Given the description of an element on the screen output the (x, y) to click on. 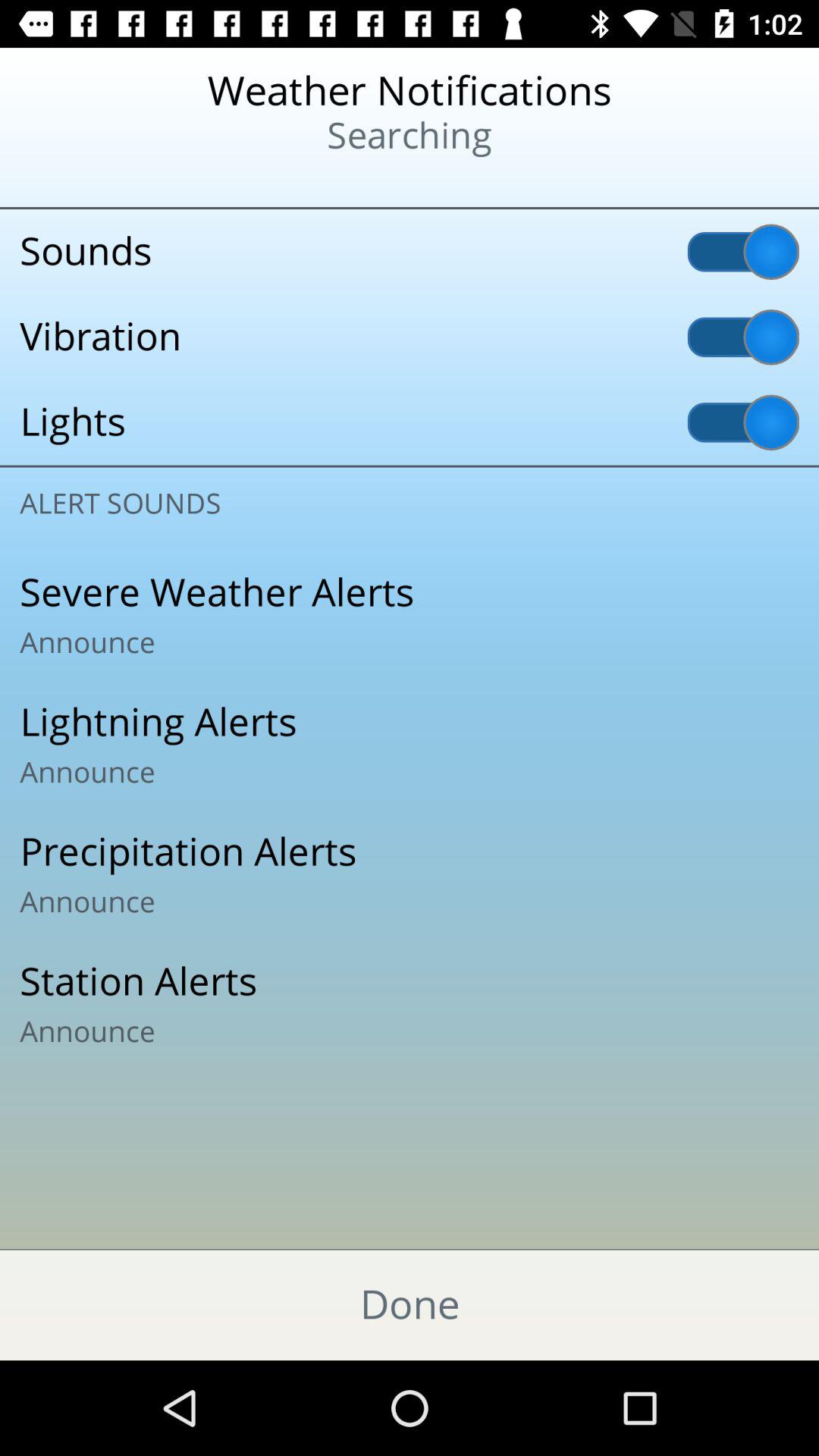
turn on the item next to searching item (99, 182)
